Given the description of an element on the screen output the (x, y) to click on. 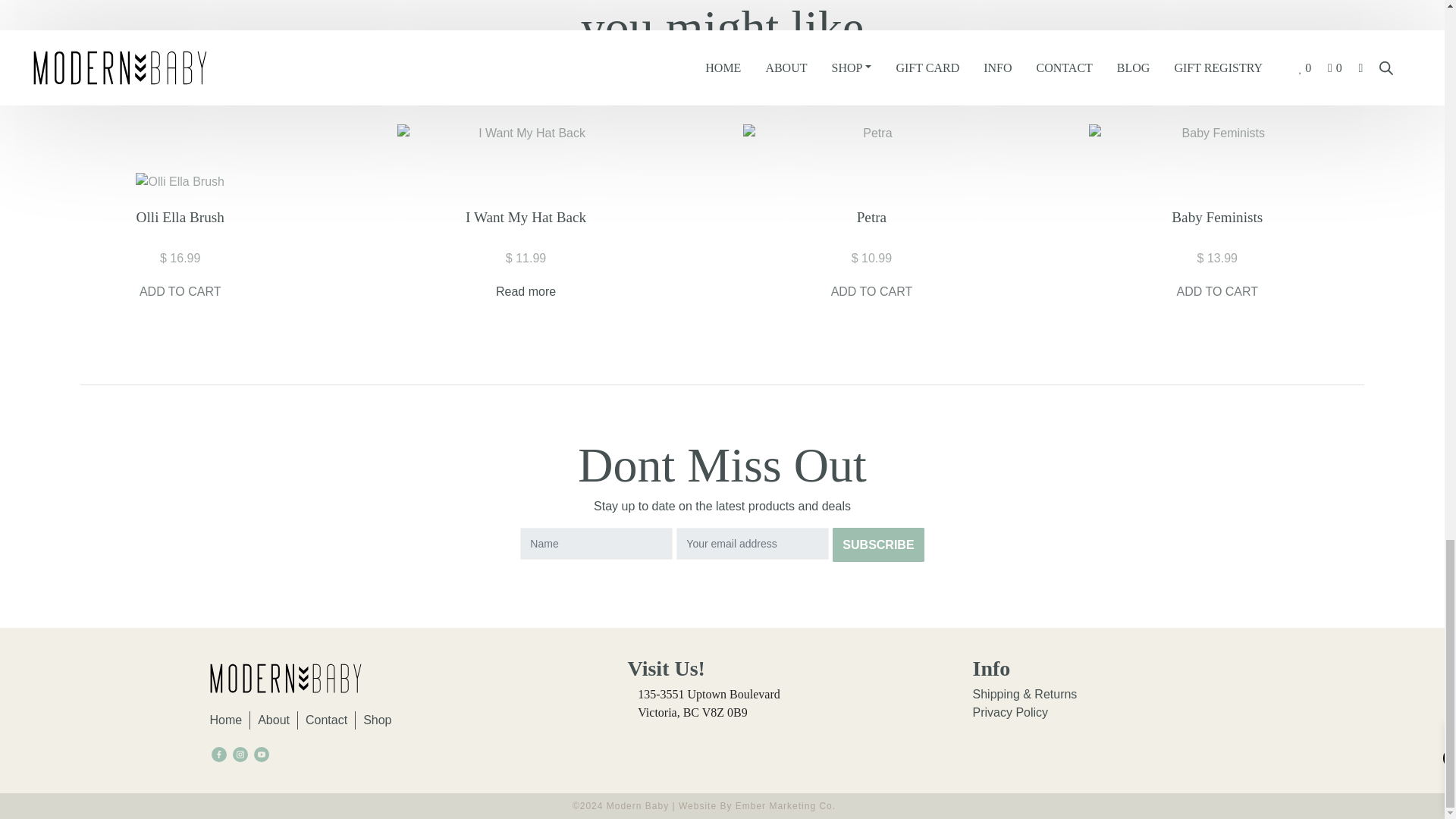
Subscribe (877, 544)
